Given the description of an element on the screen output the (x, y) to click on. 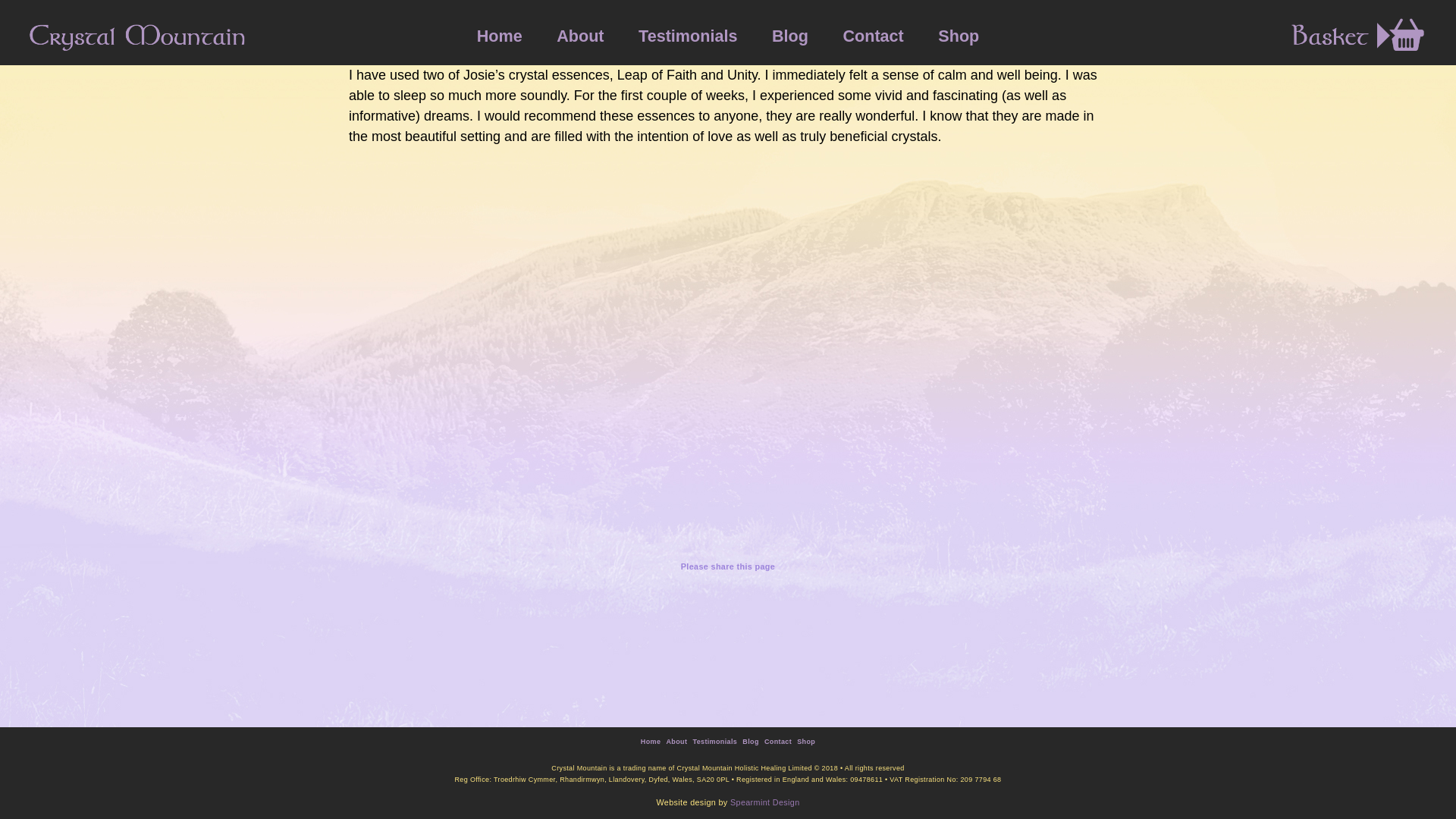
Testimonials (687, 35)
Home (650, 742)
Spearmint Design (764, 801)
Contact (777, 742)
Shop (957, 35)
Home (499, 35)
About (676, 742)
Blog (750, 742)
Blog (789, 35)
Testimonials (714, 742)
About (580, 35)
Shop (805, 742)
Contact (872, 35)
